Given the description of an element on the screen output the (x, y) to click on. 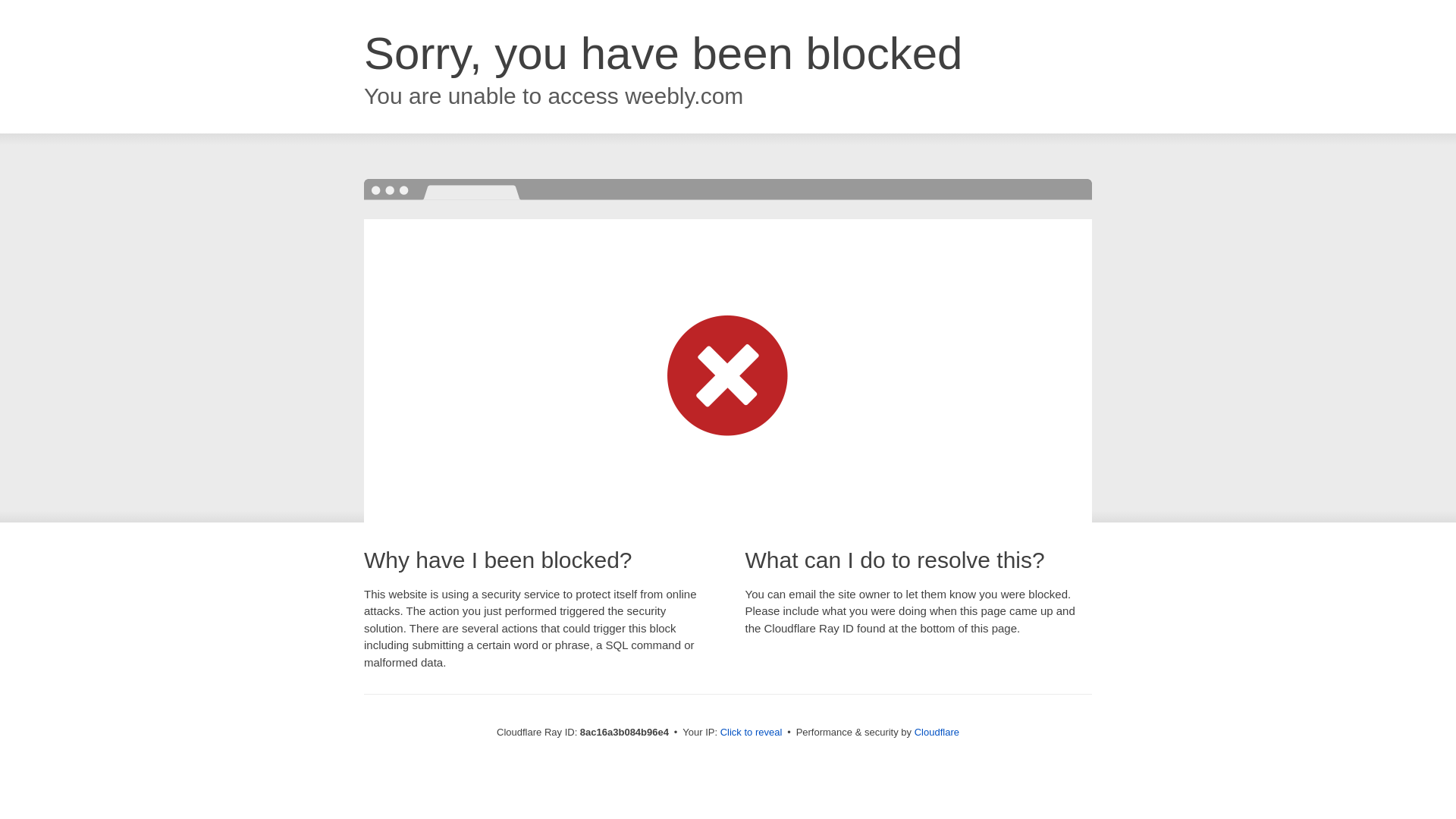
Cloudflare (936, 731)
Click to reveal (751, 732)
